Given the description of an element on the screen output the (x, y) to click on. 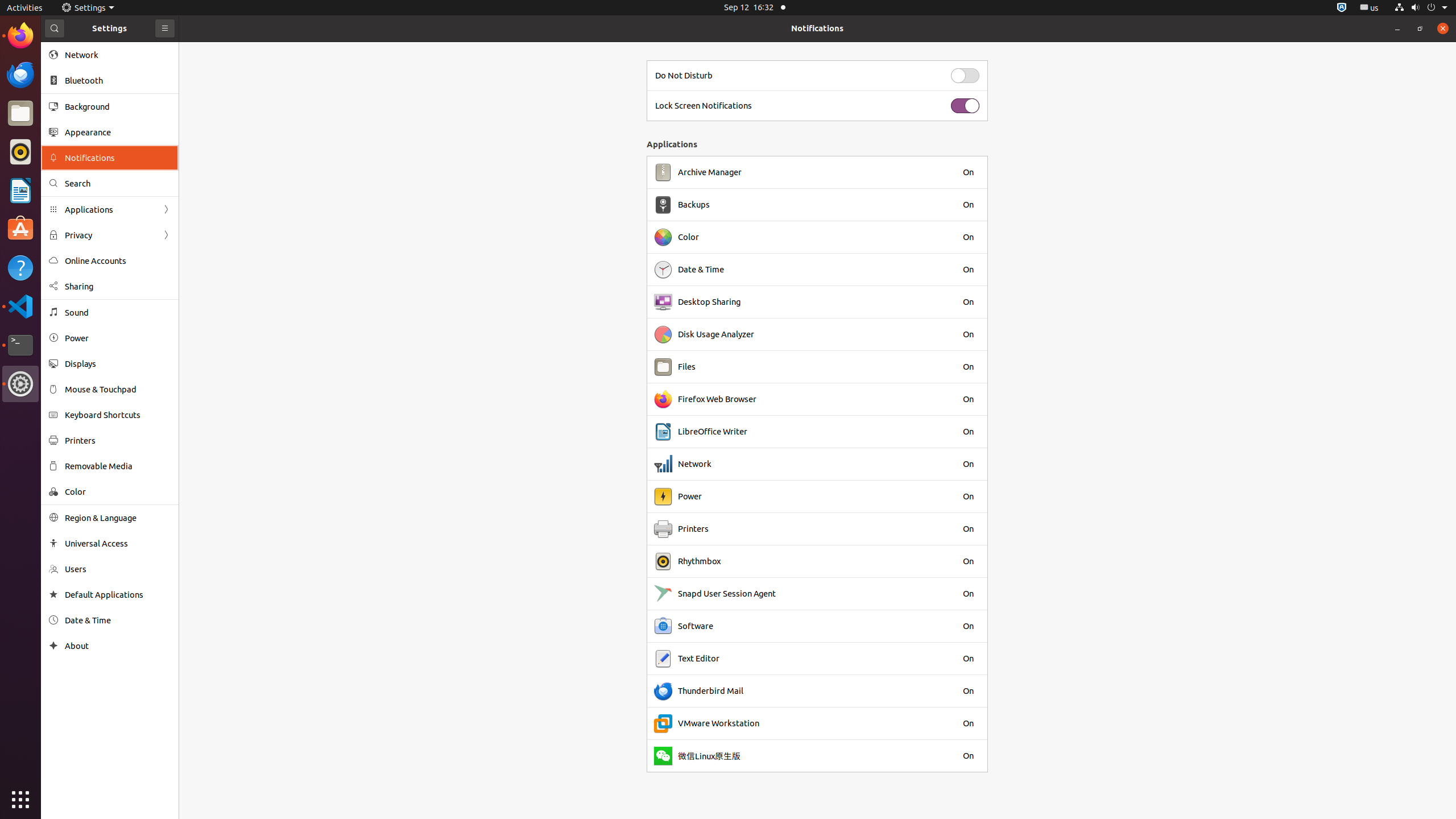
Color Element type: label (117, 491)
Region & Language Element type: label (117, 517)
Minimize Element type: push-button (1397, 27)
Activities Element type: label (24, 7)
